Given the description of an element on the screen output the (x, y) to click on. 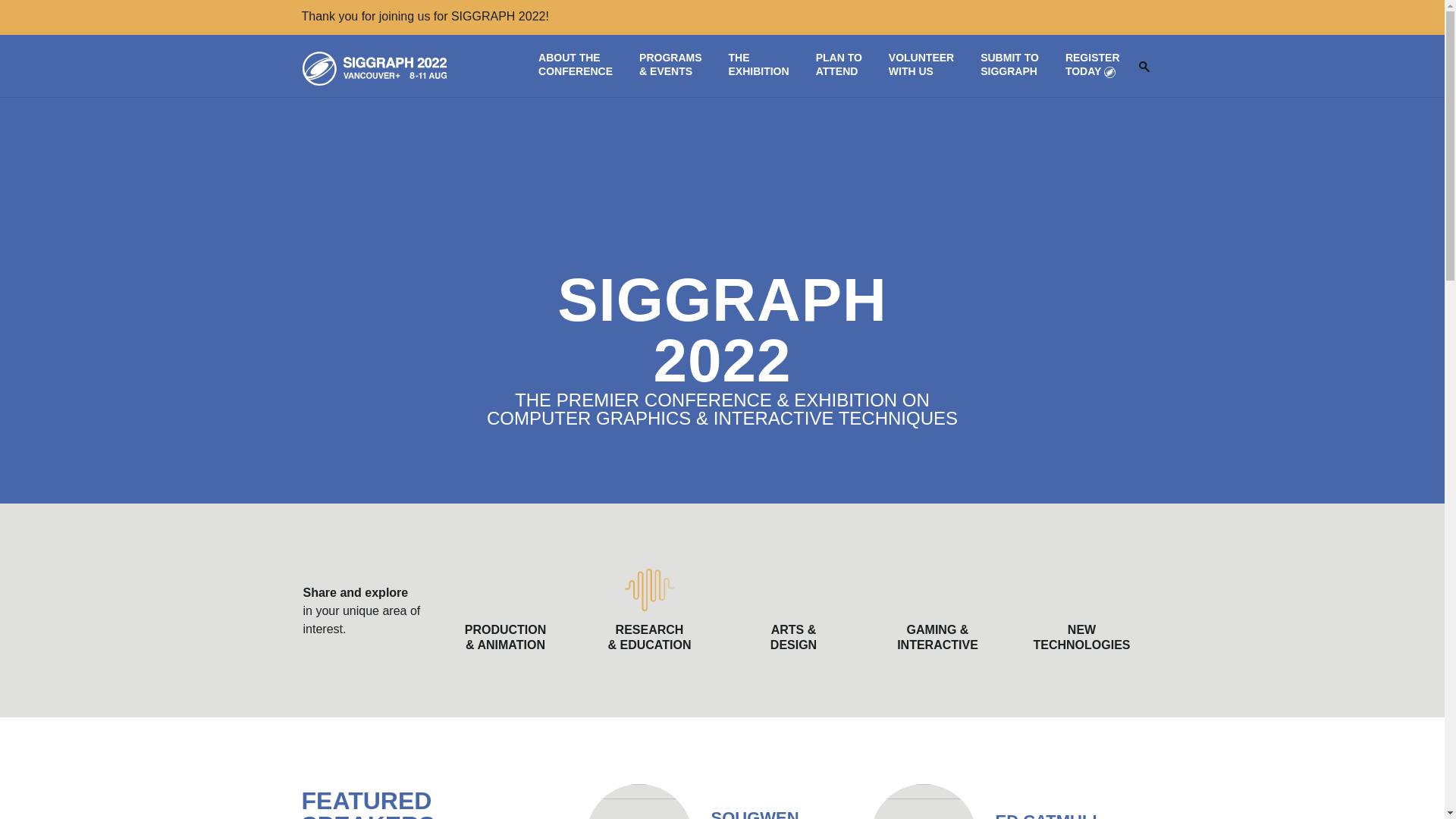
SOUGWEN CHUNG (1081, 609)
SIGGRAPH 2022 (716, 801)
SEARCH (1009, 67)
